Given the description of an element on the screen output the (x, y) to click on. 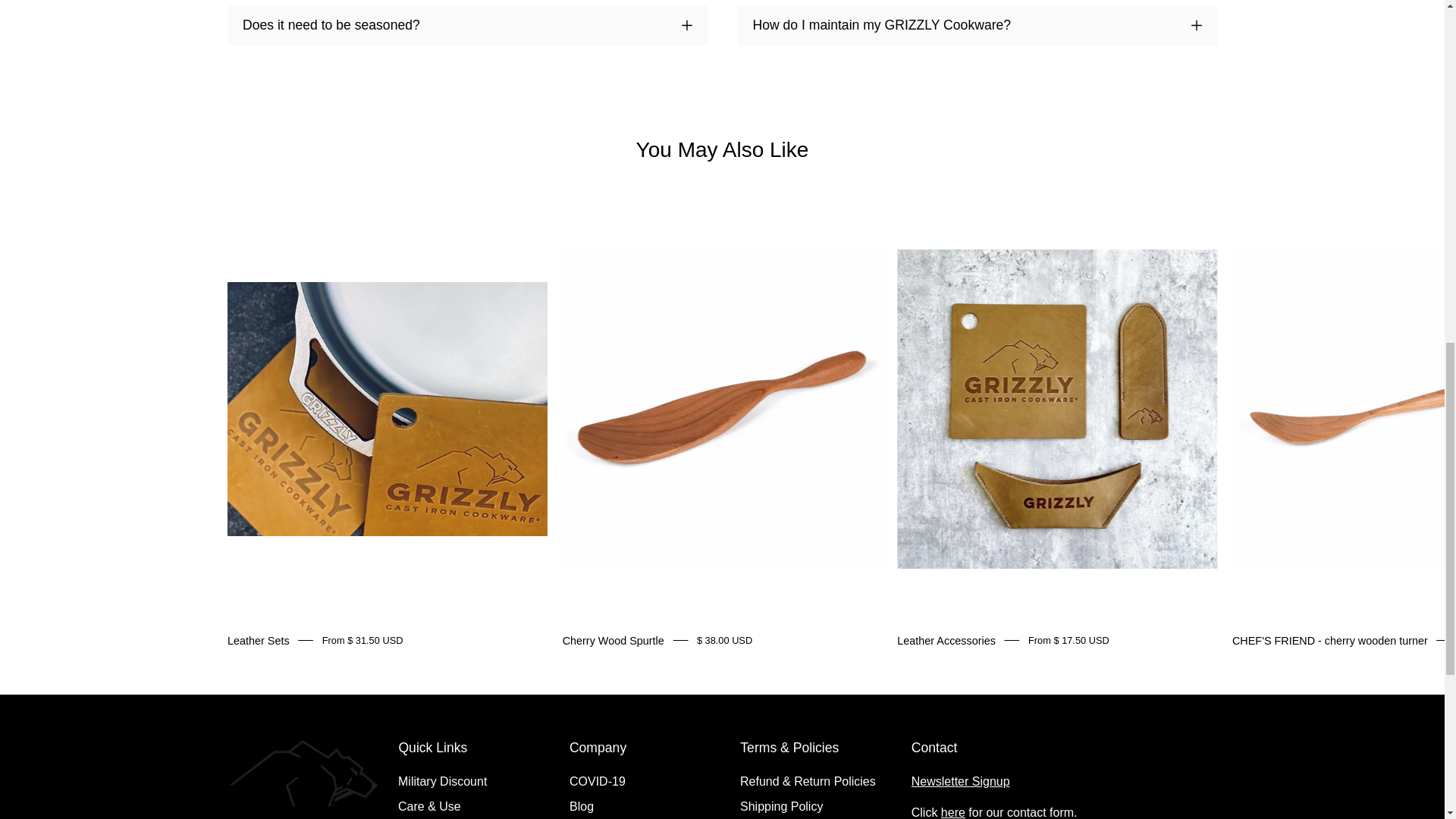
Contact (952, 812)
